Given the description of an element on the screen output the (x, y) to click on. 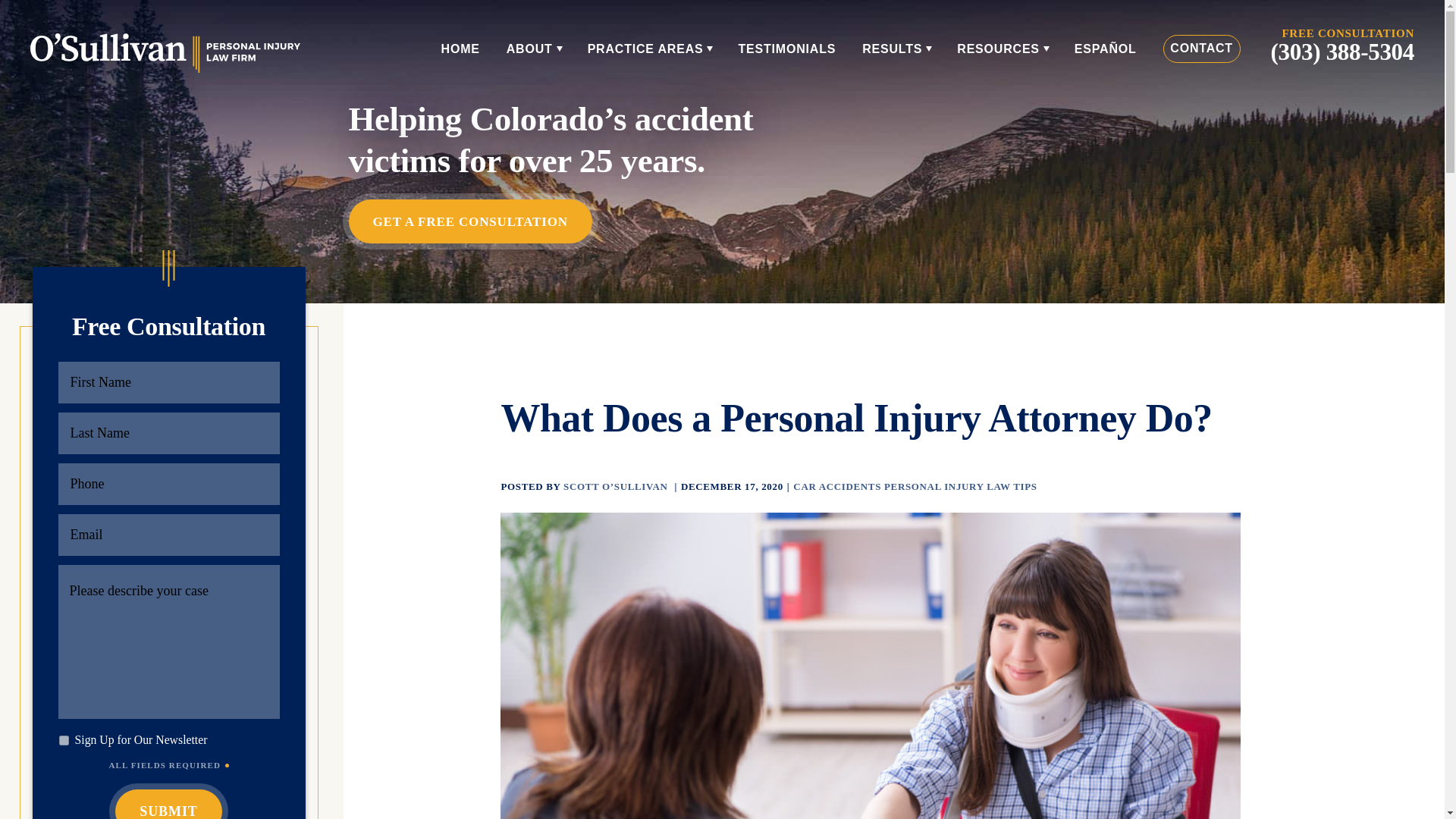
Submit (168, 804)
RESOURCES (1002, 48)
Sign Up for Our Newsletter (63, 740)
ABOUT (534, 48)
CONTACT (1201, 49)
HOME (460, 48)
TESTIMONIALS (786, 48)
Submit (168, 804)
PRACTICE AREAS (650, 48)
RESULTS (896, 48)
GET A FREE CONSULTATION (470, 221)
